Given the description of an element on the screen output the (x, y) to click on. 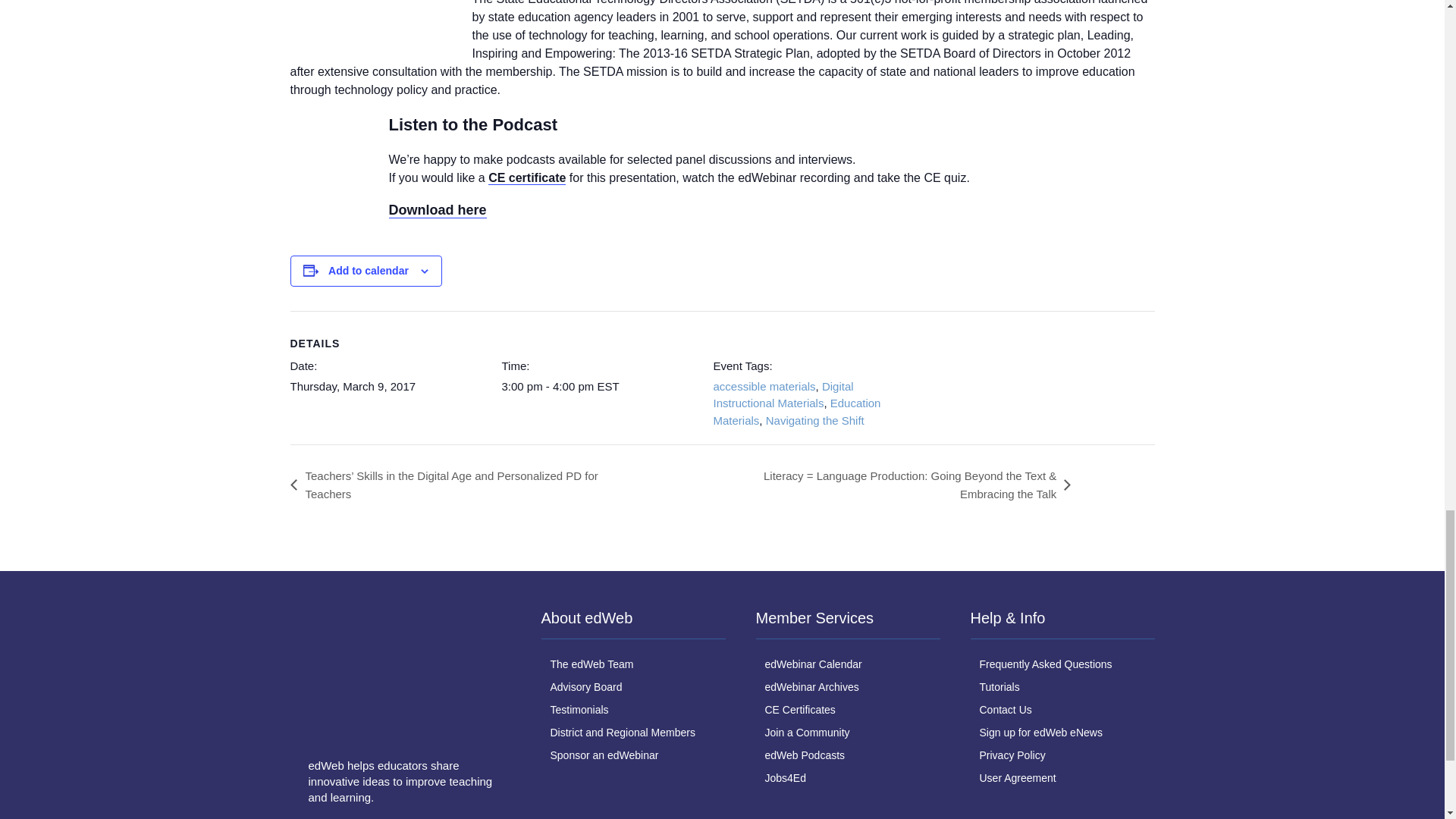
2017-03-09 (601, 386)
2017-03-09 (351, 386)
